Given the description of an element on the screen output the (x, y) to click on. 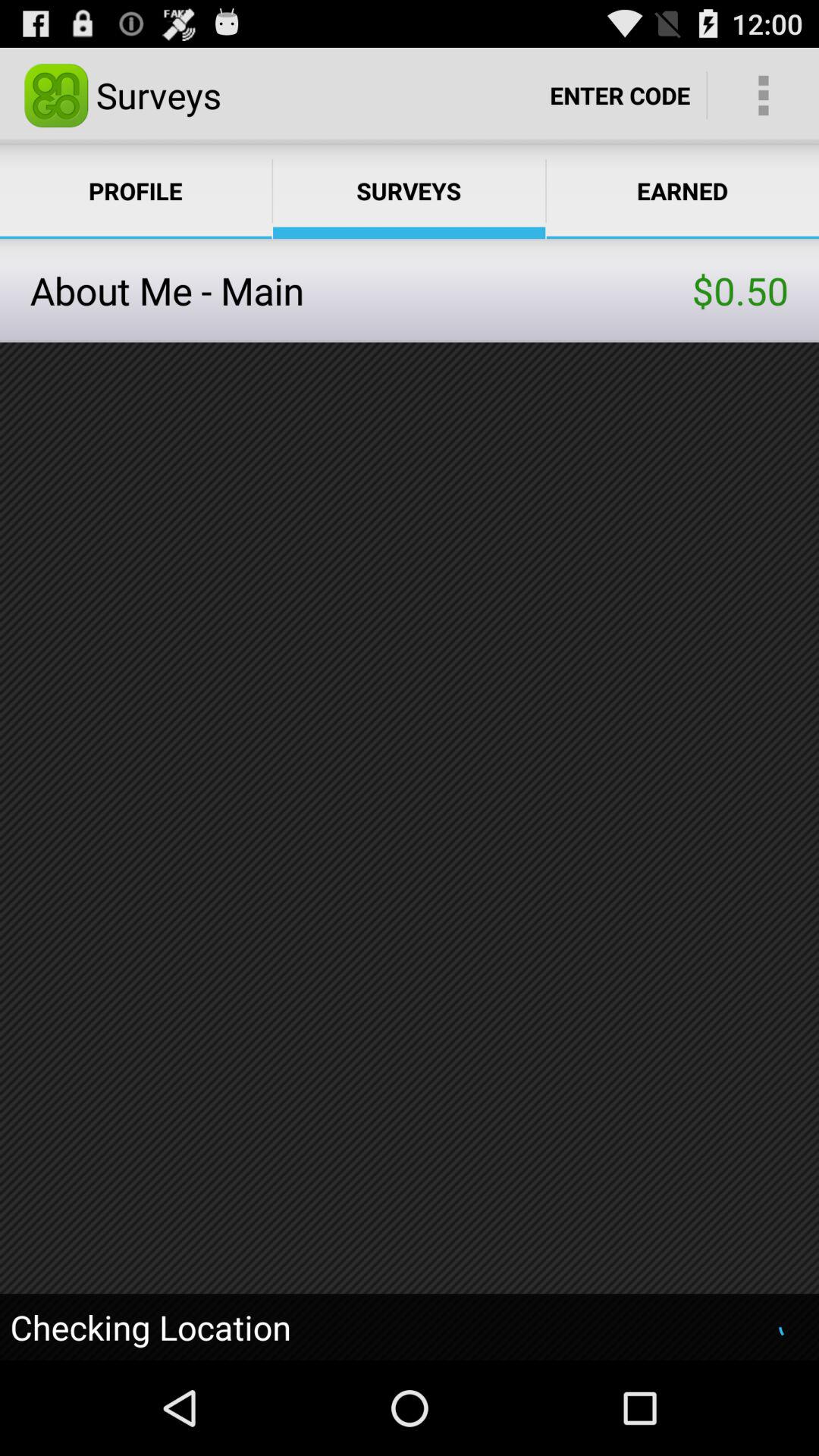
turn on icon next to the about me - main item (740, 290)
